Given the description of an element on the screen output the (x, y) to click on. 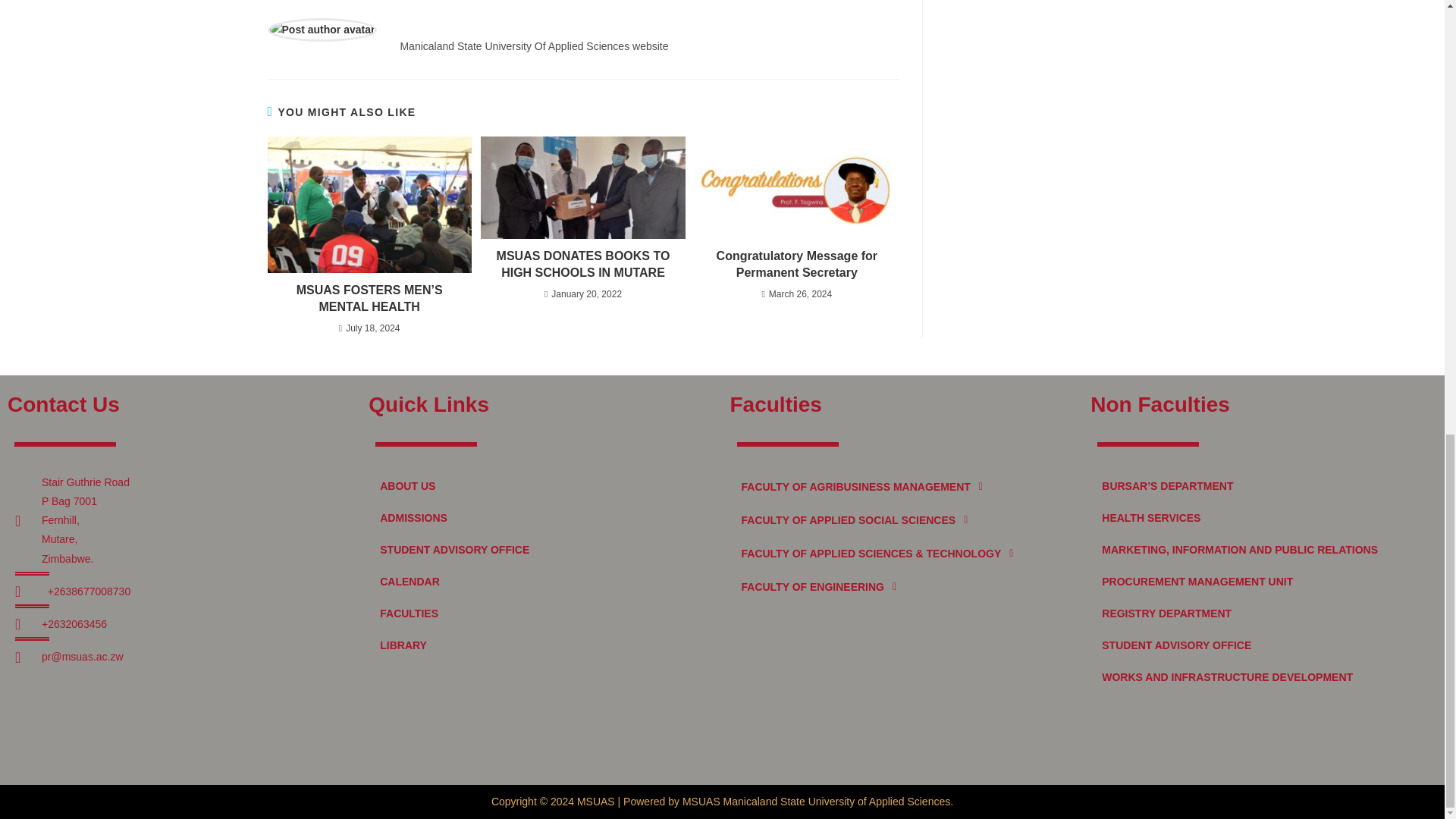
Visit author page (321, 28)
